Given the description of an element on the screen output the (x, y) to click on. 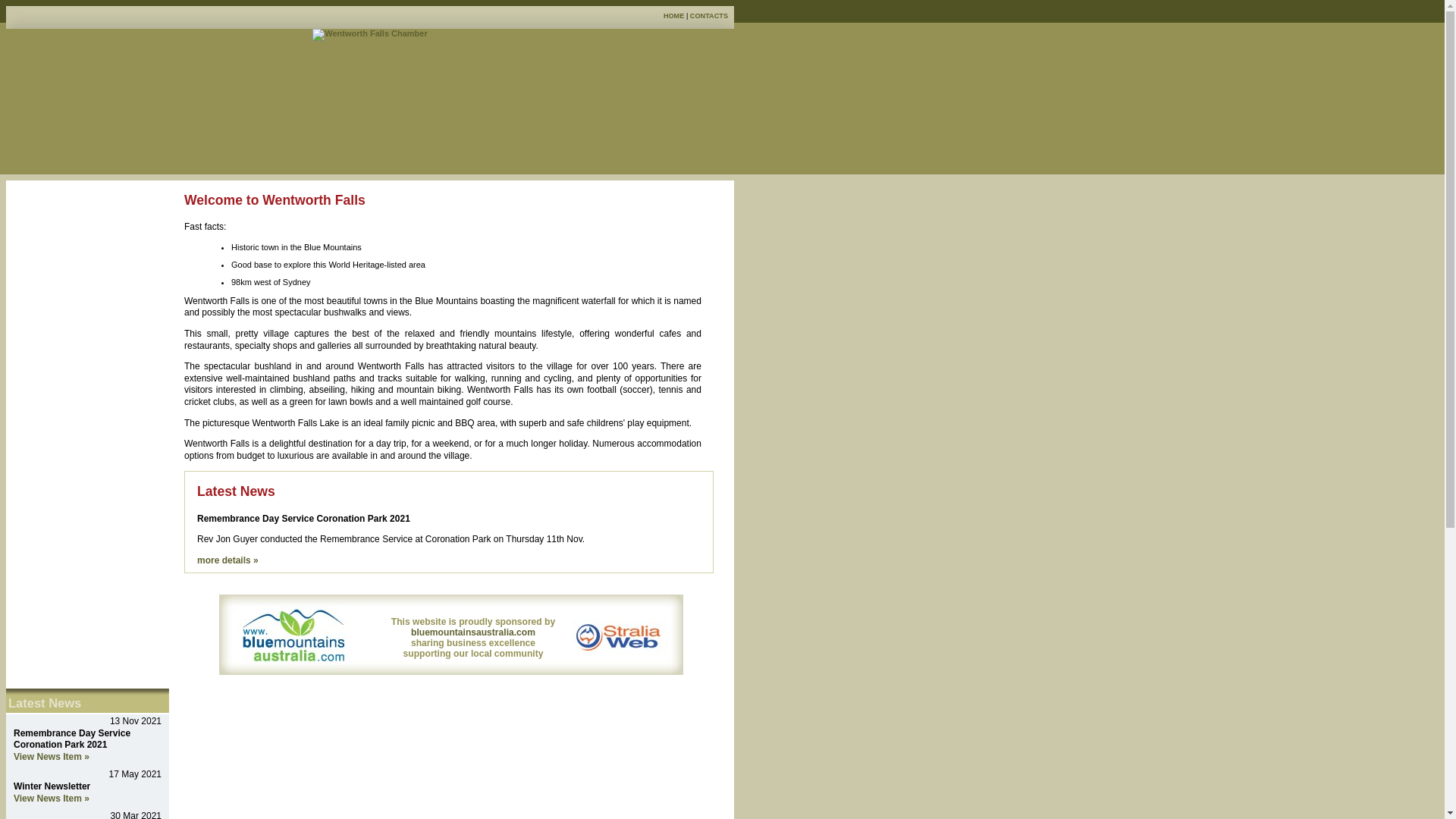
HOME Element type: text (673, 15)
bluemountainsaustralia.com Element type: text (473, 632)
CONTACTS Element type: text (709, 15)
